Given the description of an element on the screen output the (x, y) to click on. 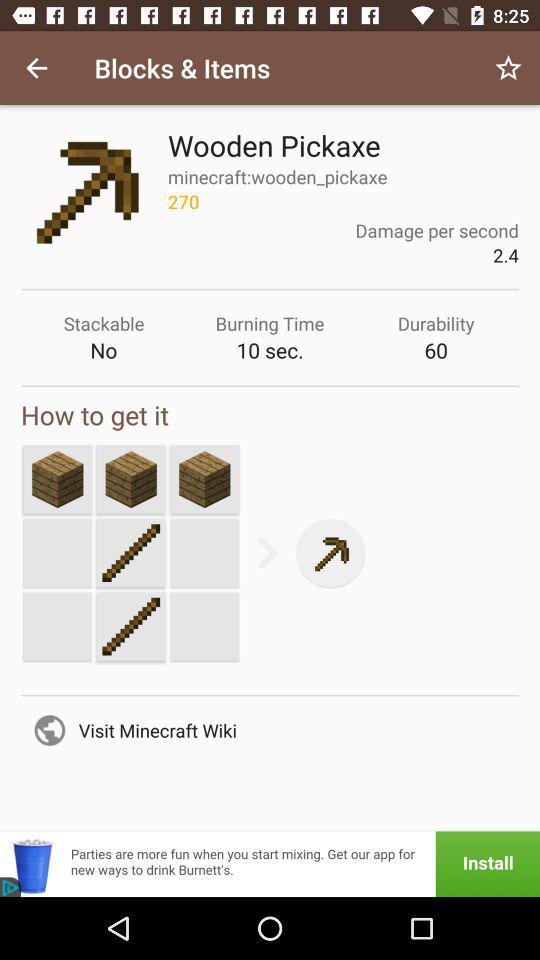
select the item to the right of blocks & items icon (508, 67)
